Given the description of an element on the screen output the (x, y) to click on. 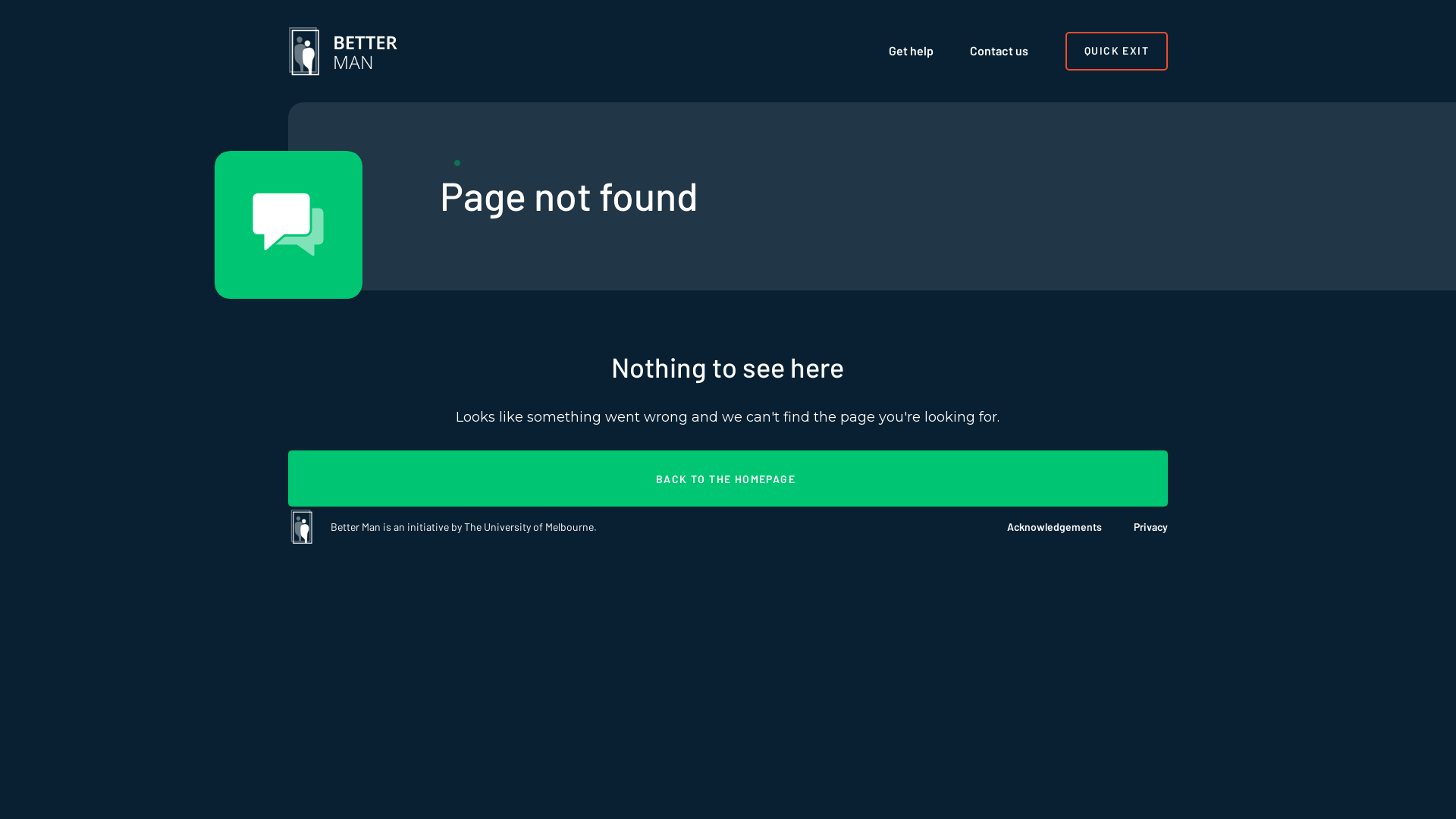
QUICK EXIT Element type: text (1116, 50)
Contact us Element type: text (998, 50)
BACK TO THE HOMEPAGE Element type: text (727, 478)
Acknowledgements Element type: text (1038, 526)
Privacy Element type: text (1134, 526)
Get help Element type: text (910, 50)
